Given the description of an element on the screen output the (x, y) to click on. 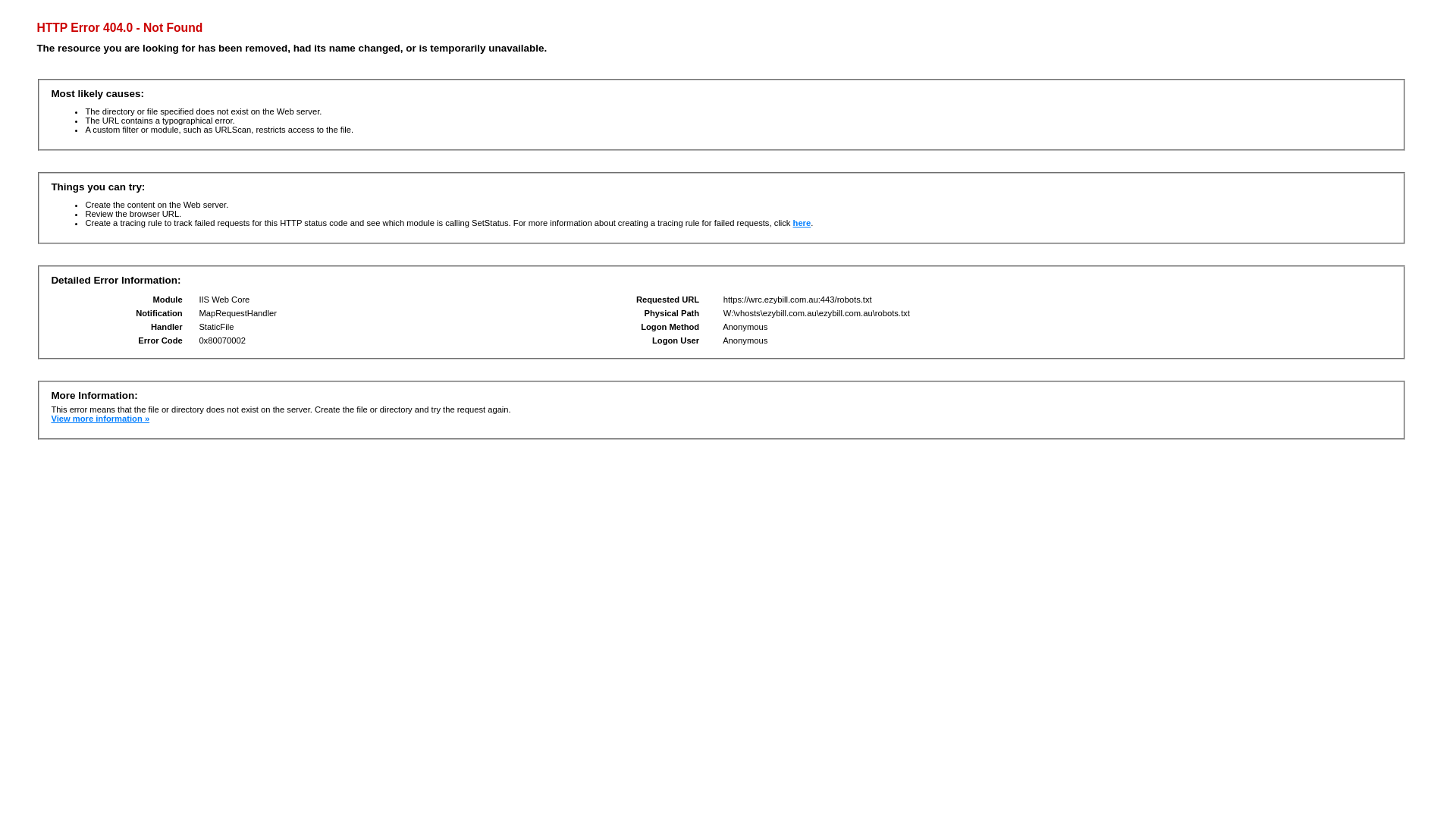
here Element type: text (802, 222)
